Given the description of an element on the screen output the (x, y) to click on. 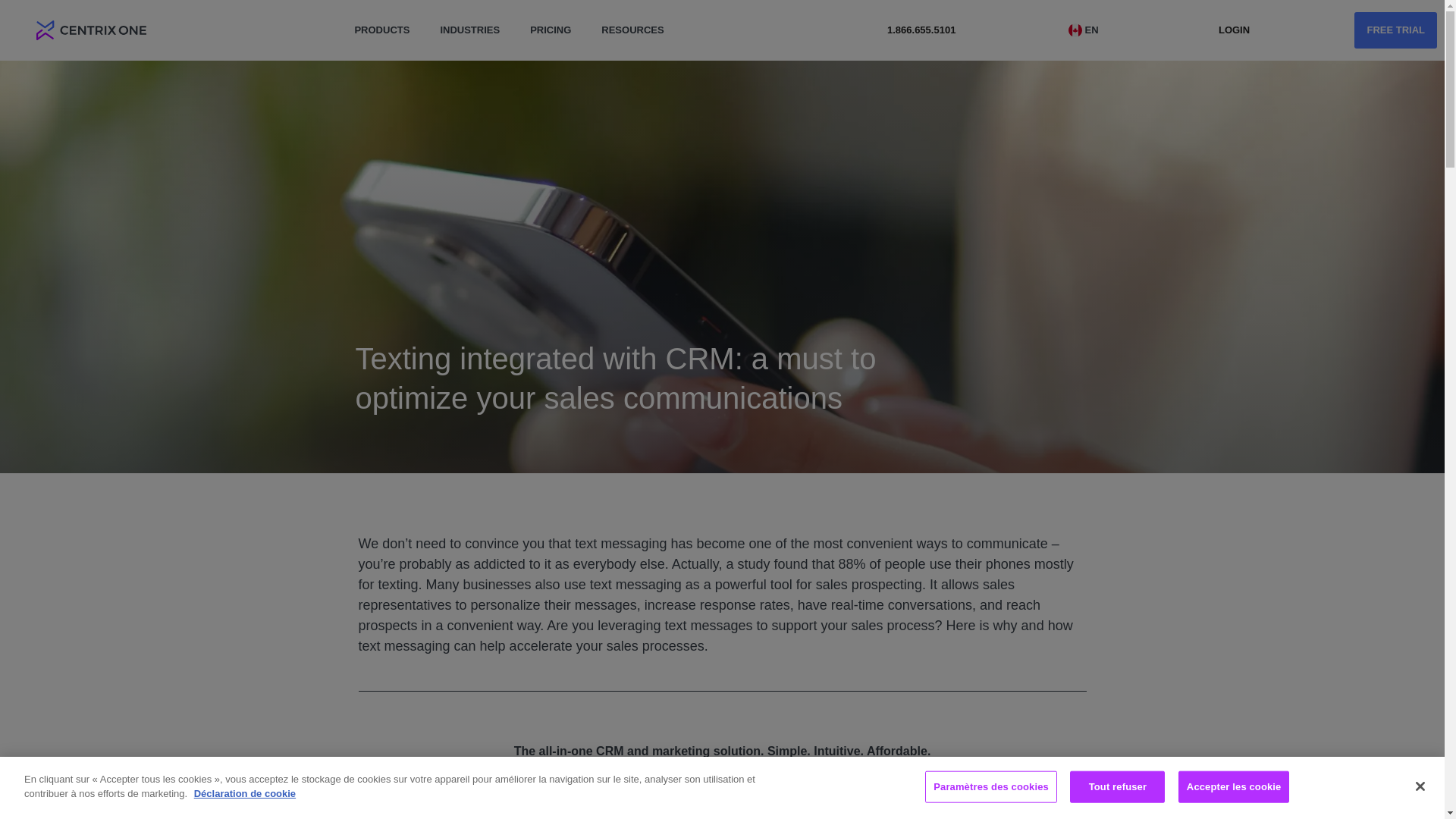
PRICING (550, 21)
EN (1087, 30)
RESOURCES (632, 22)
INDUSTRIES (470, 9)
